Given the description of an element on the screen output the (x, y) to click on. 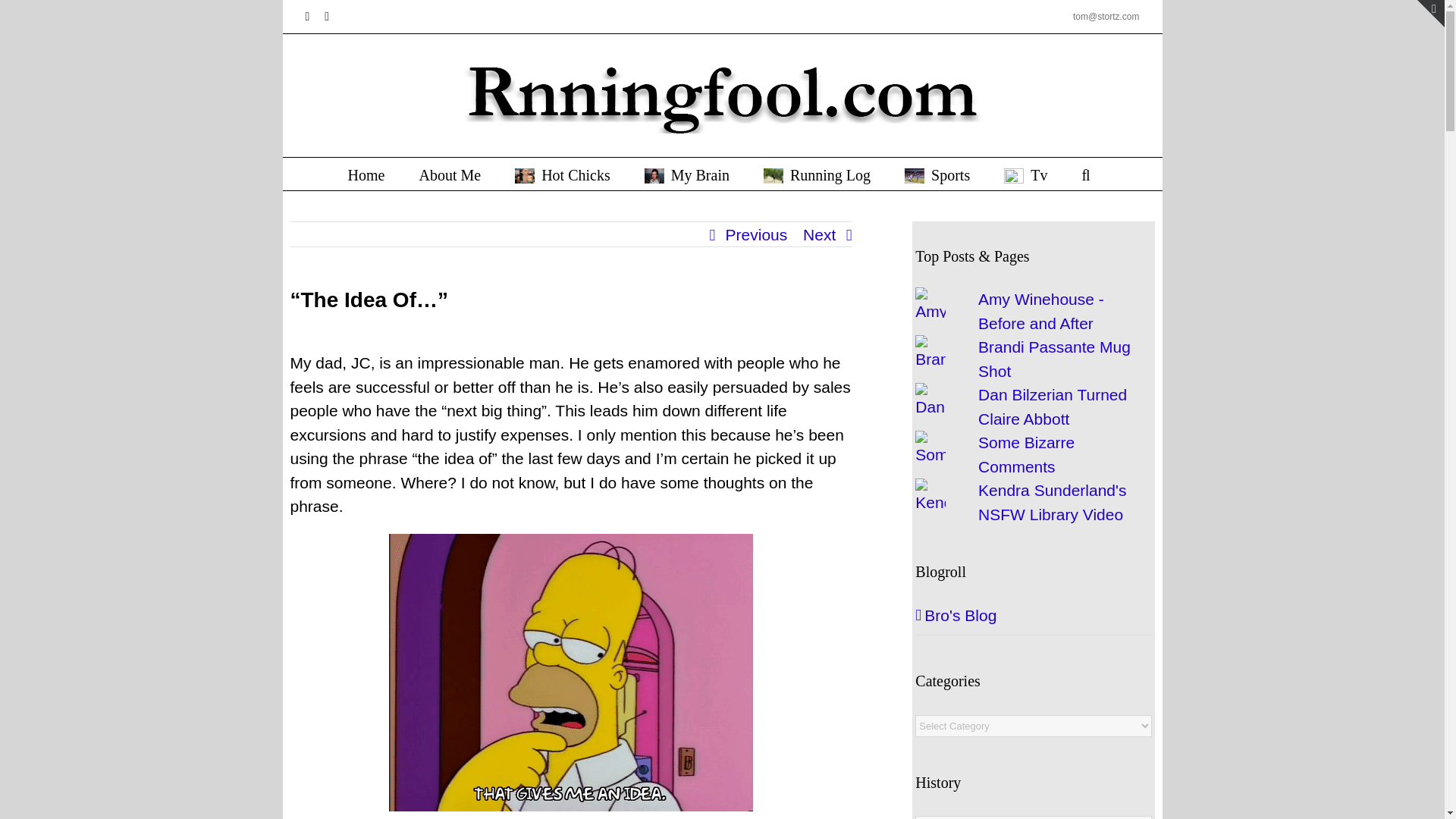
Next (819, 234)
Sports (936, 174)
My Brain (687, 174)
About Me (449, 174)
Tv (1025, 174)
Previous (756, 234)
Running Log (816, 174)
Hot Chicks (562, 174)
Home (366, 174)
